Given the description of an element on the screen output the (x, y) to click on. 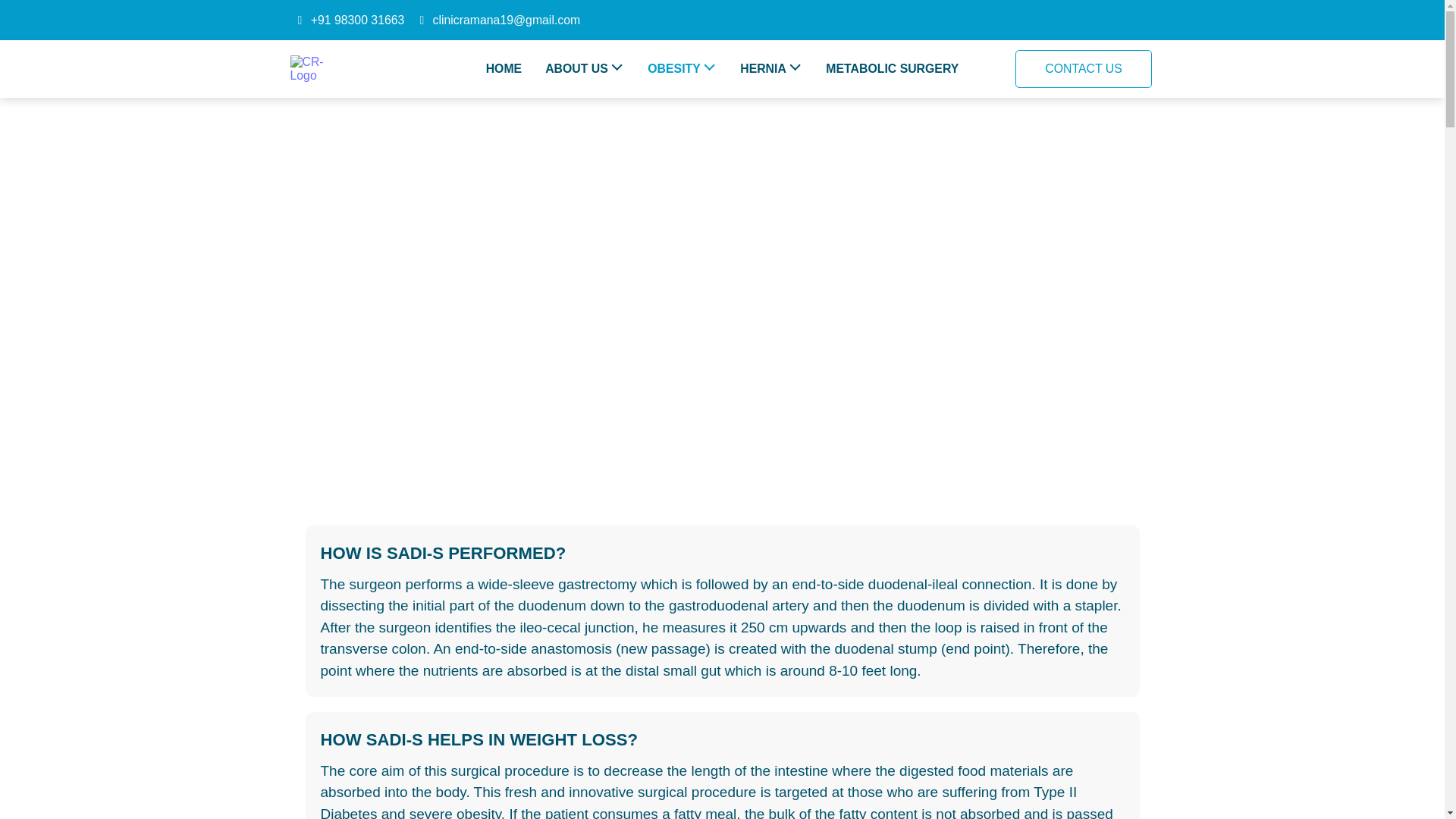
METABOLIC SURGERY (891, 68)
ABOUT US (584, 68)
CONTACT US (1082, 68)
HOME (504, 68)
CR-Logo (310, 68)
OBESITY (682, 68)
HERNIA (770, 68)
